Given the description of an element on the screen output the (x, y) to click on. 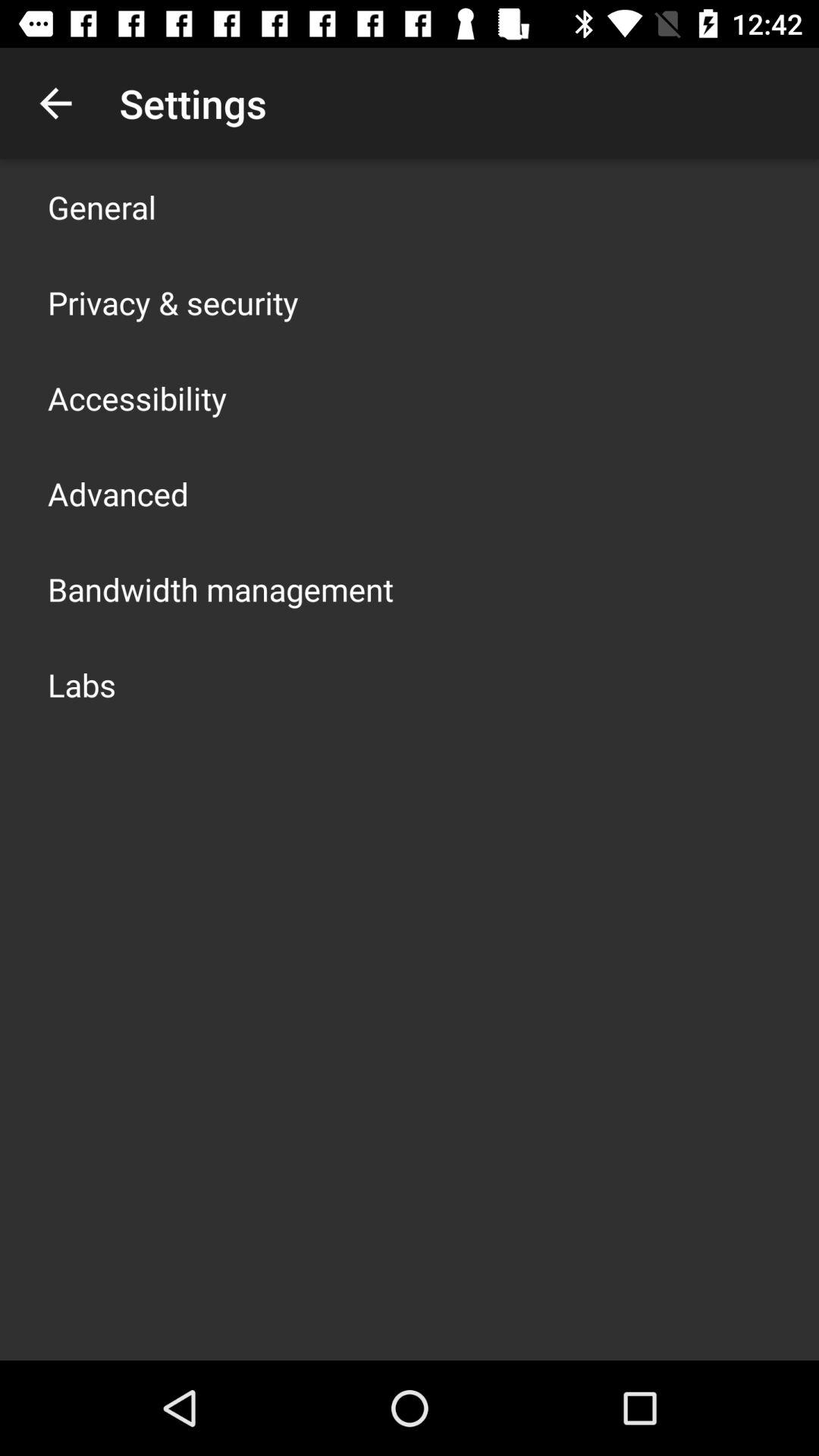
click accessibility icon (136, 397)
